Given the description of an element on the screen output the (x, y) to click on. 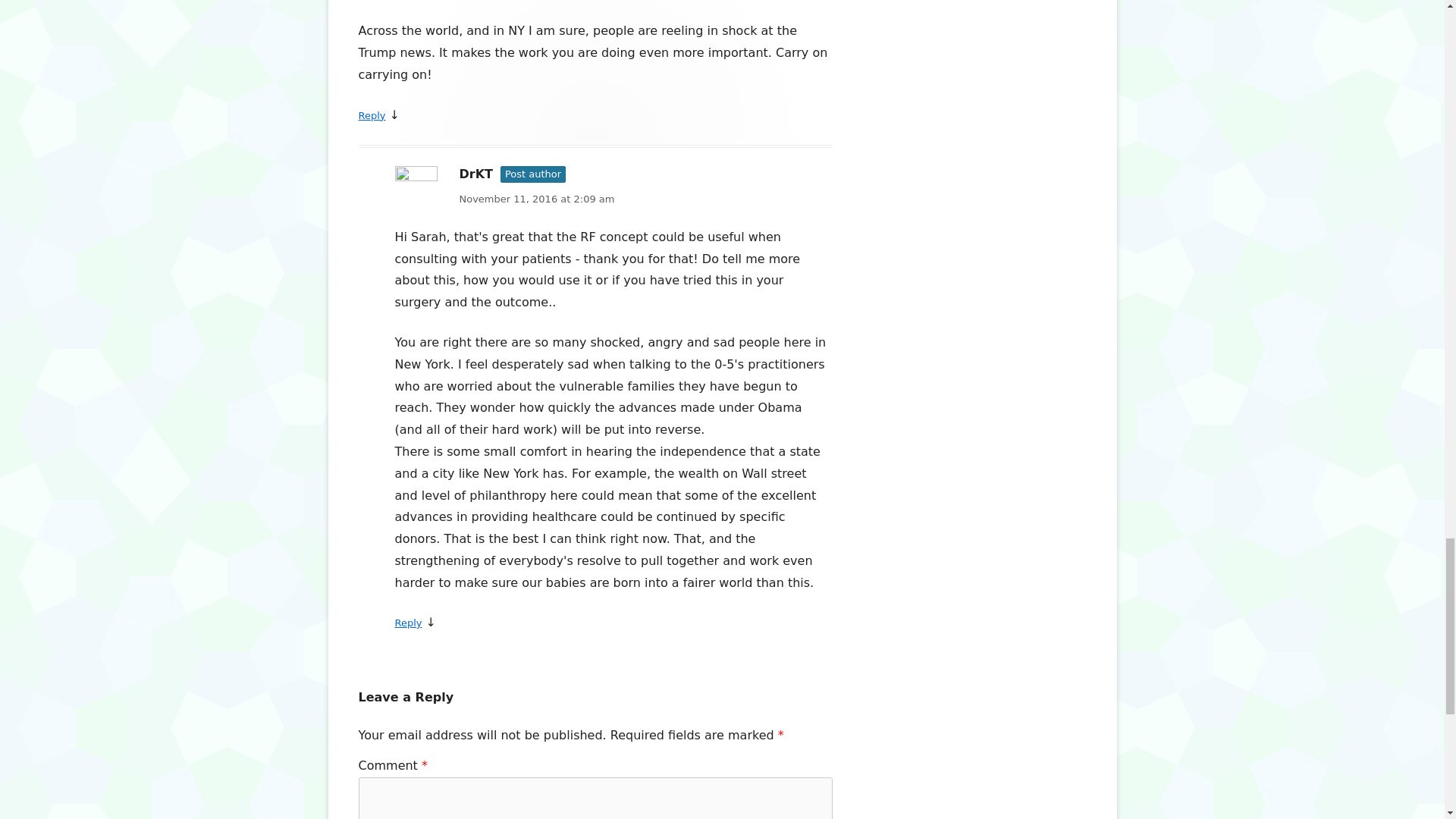
Reply (408, 622)
November 11, 2016 at 2:09 am (612, 199)
Reply (371, 115)
